Given the description of an element on the screen output the (x, y) to click on. 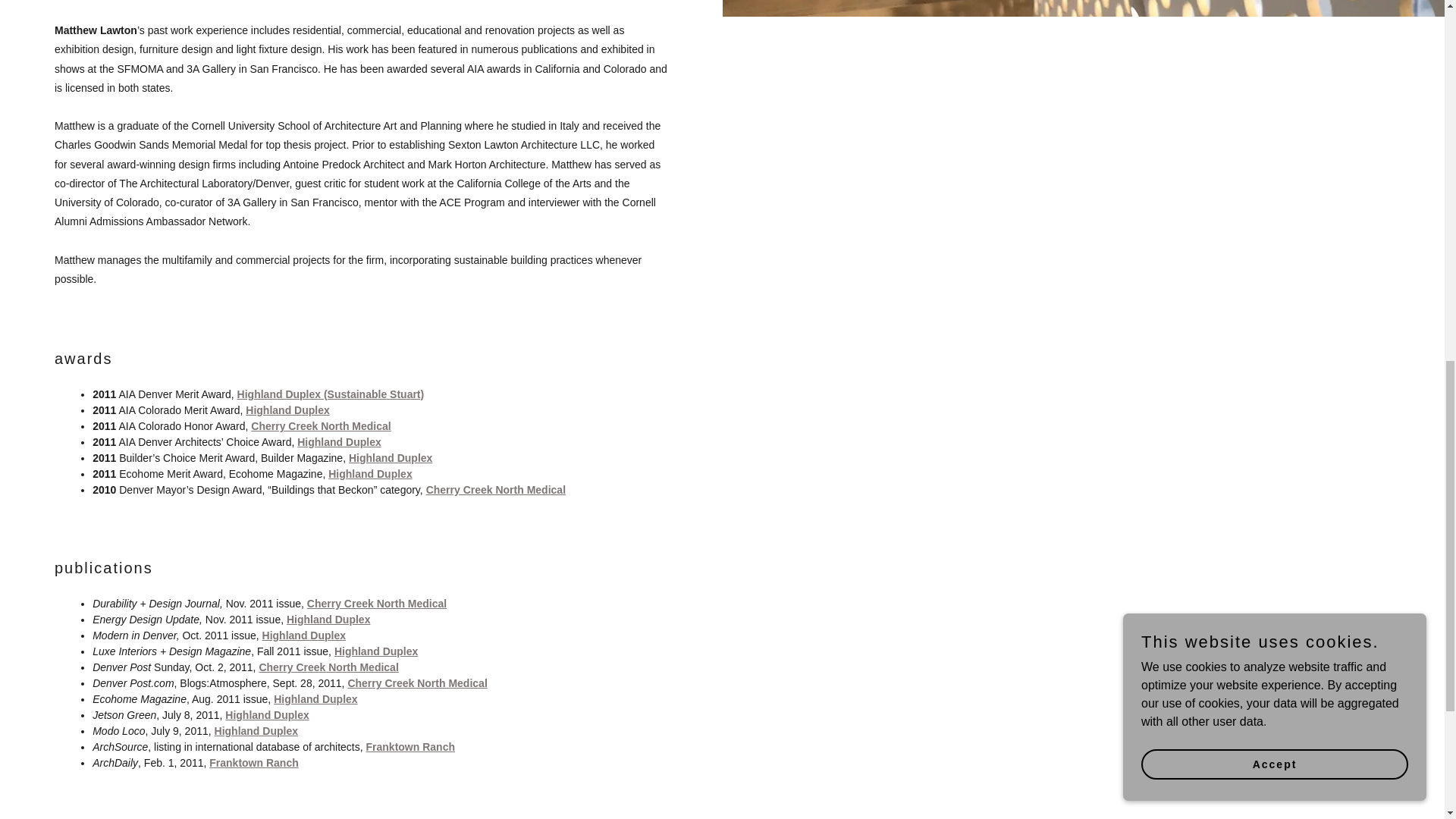
Highland Duplex (256, 730)
Highland Duplex (287, 410)
Franktown Ranch (410, 746)
Highland Duplex (304, 635)
Cherry Creek North Medical (328, 666)
Highland Duplex (375, 651)
Cherry Creek North Medical (496, 490)
Highland Duplex (327, 619)
Cherry Creek North Medical (416, 683)
Highland Duplex (390, 458)
